Given the description of an element on the screen output the (x, y) to click on. 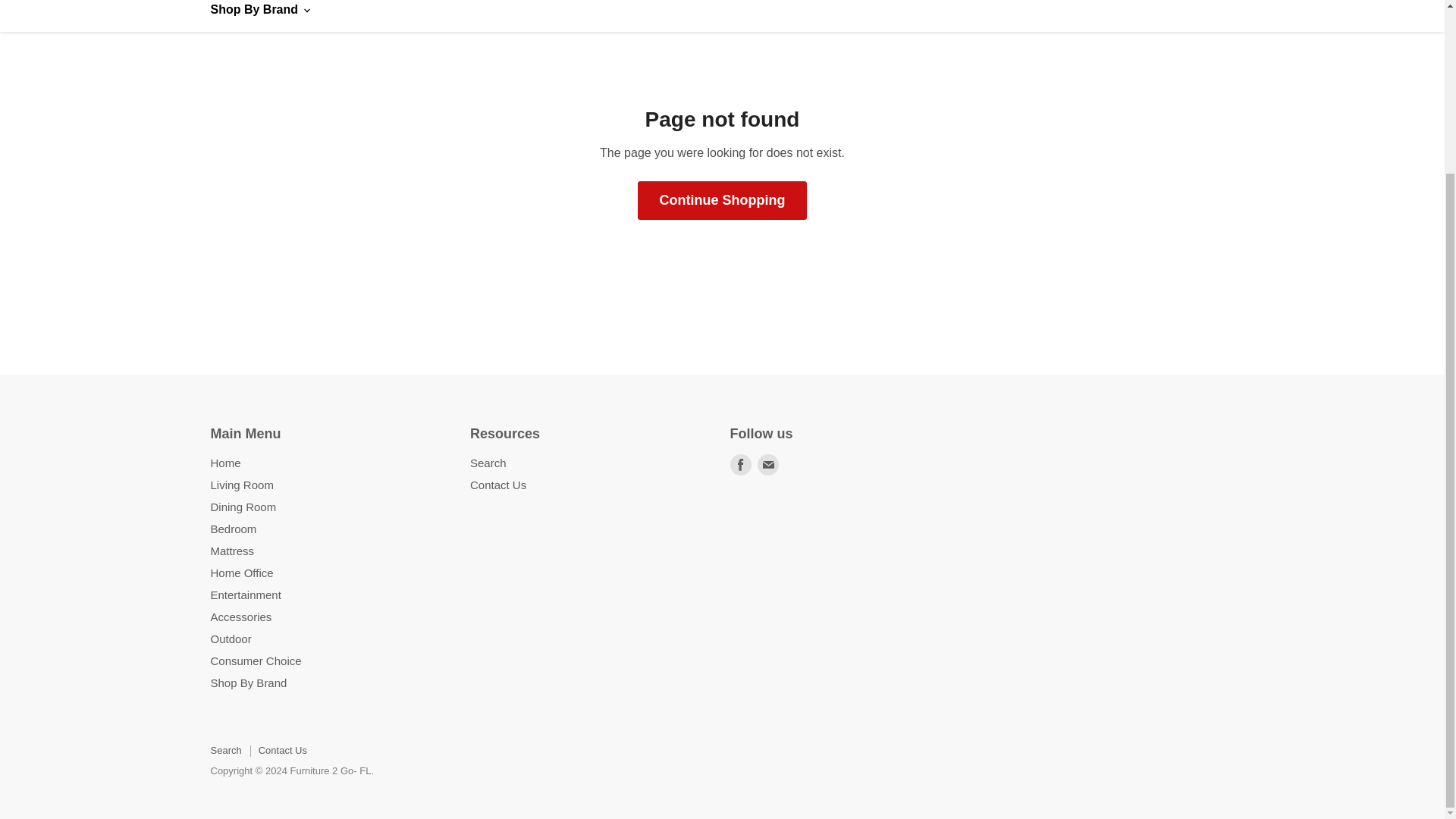
Facebook (740, 464)
E-mail (767, 464)
